Given the description of an element on the screen output the (x, y) to click on. 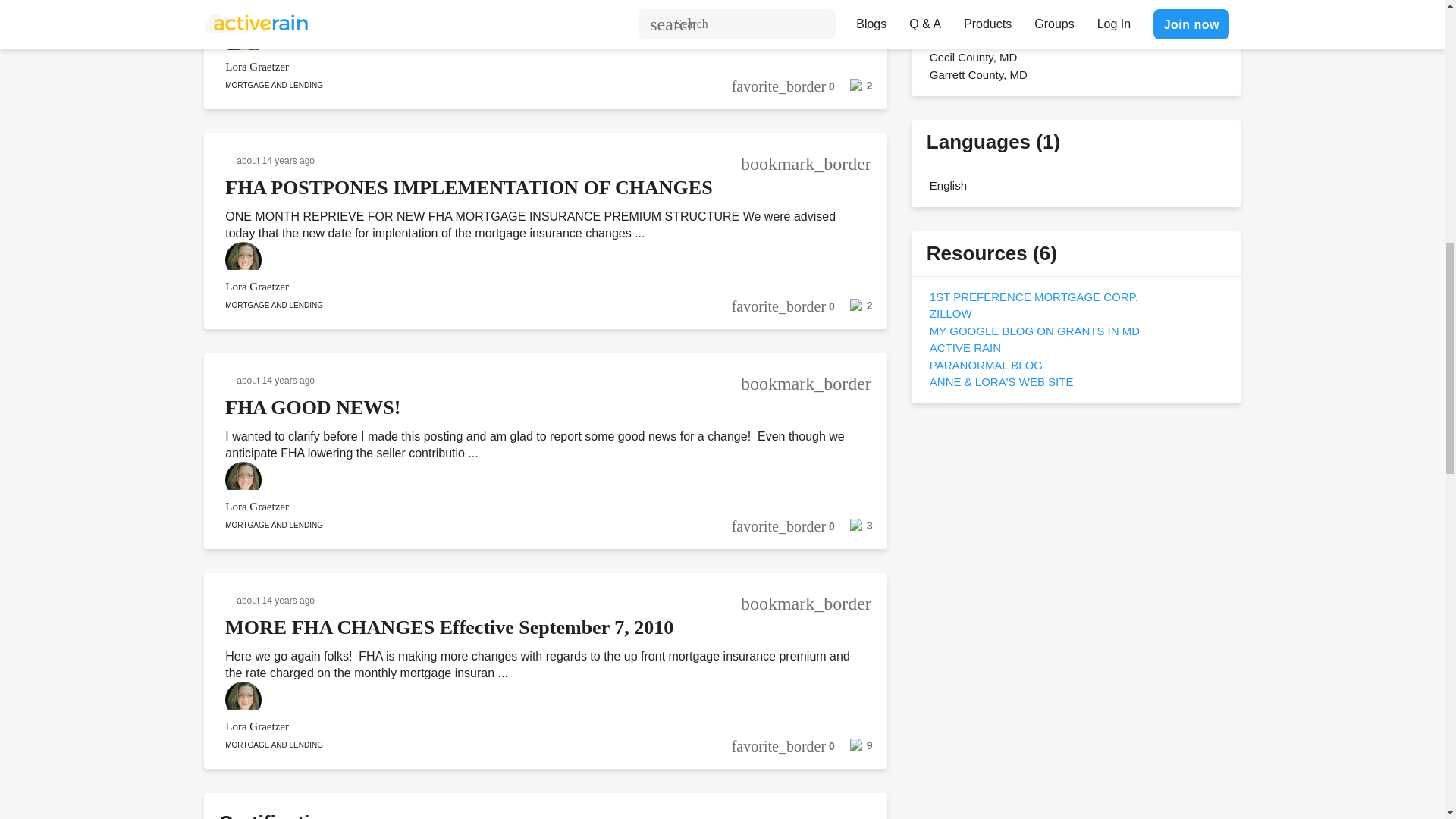
Lora Graetzer (525, 67)
Paranormal Blog (986, 364)
Lora Graetzer (525, 286)
2 (853, 90)
My Google Blog on Grants in MD (1035, 330)
2 (853, 309)
Zillow  (951, 313)
1st Preference Mortgage Corp. (1034, 295)
FHA POSTPONES IMPLEMENTATION OF CHANGES (468, 187)
Active Rain (965, 347)
